Given the description of an element on the screen output the (x, y) to click on. 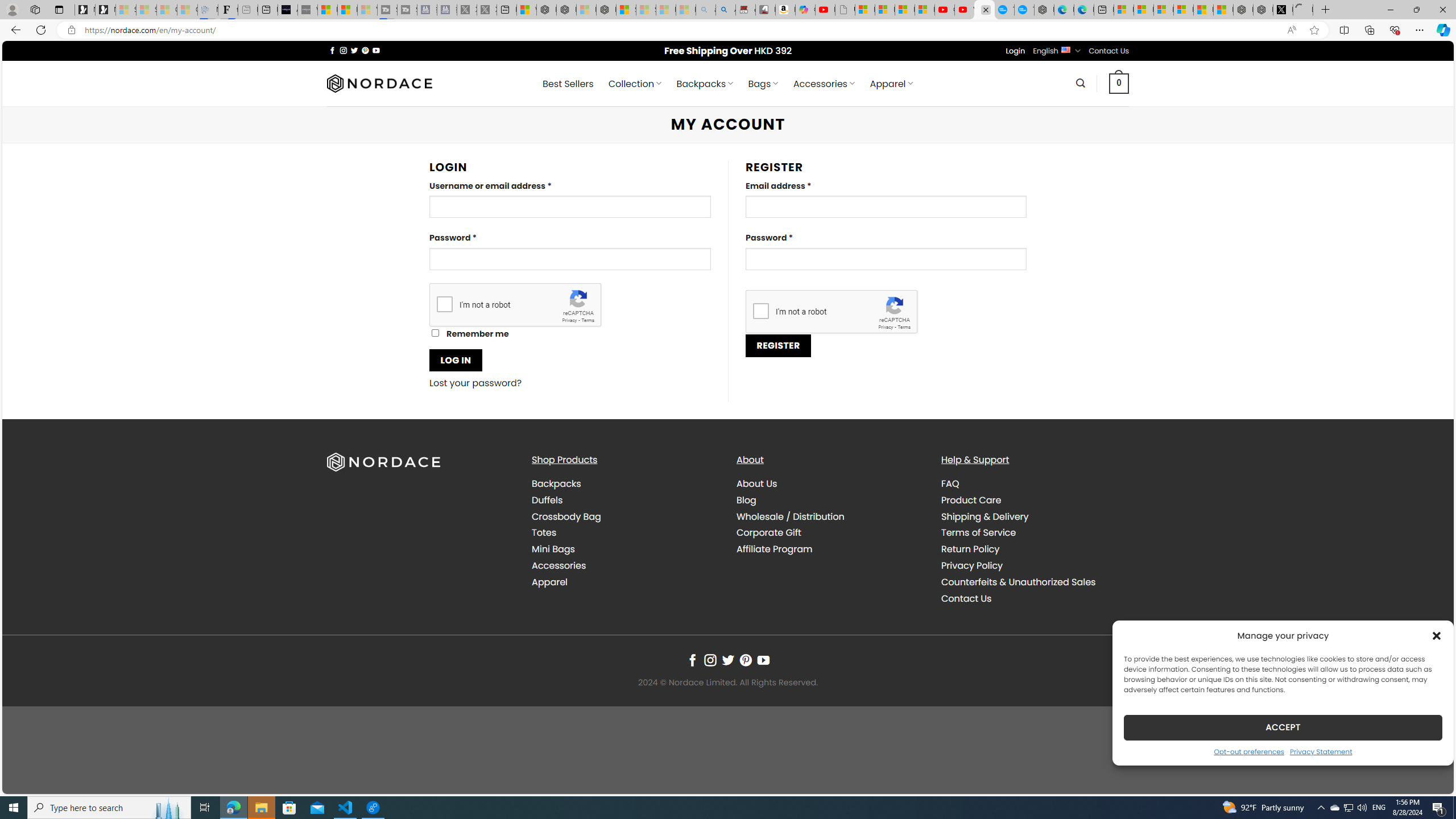
I'm not a robot (760, 310)
Nordace - Nordace Siena Is Not An Ordinary Backpack (606, 9)
Accessories (625, 565)
Counterfeits & Unauthorized Sales (1018, 581)
Totes (625, 532)
